Given the description of an element on the screen output the (x, y) to click on. 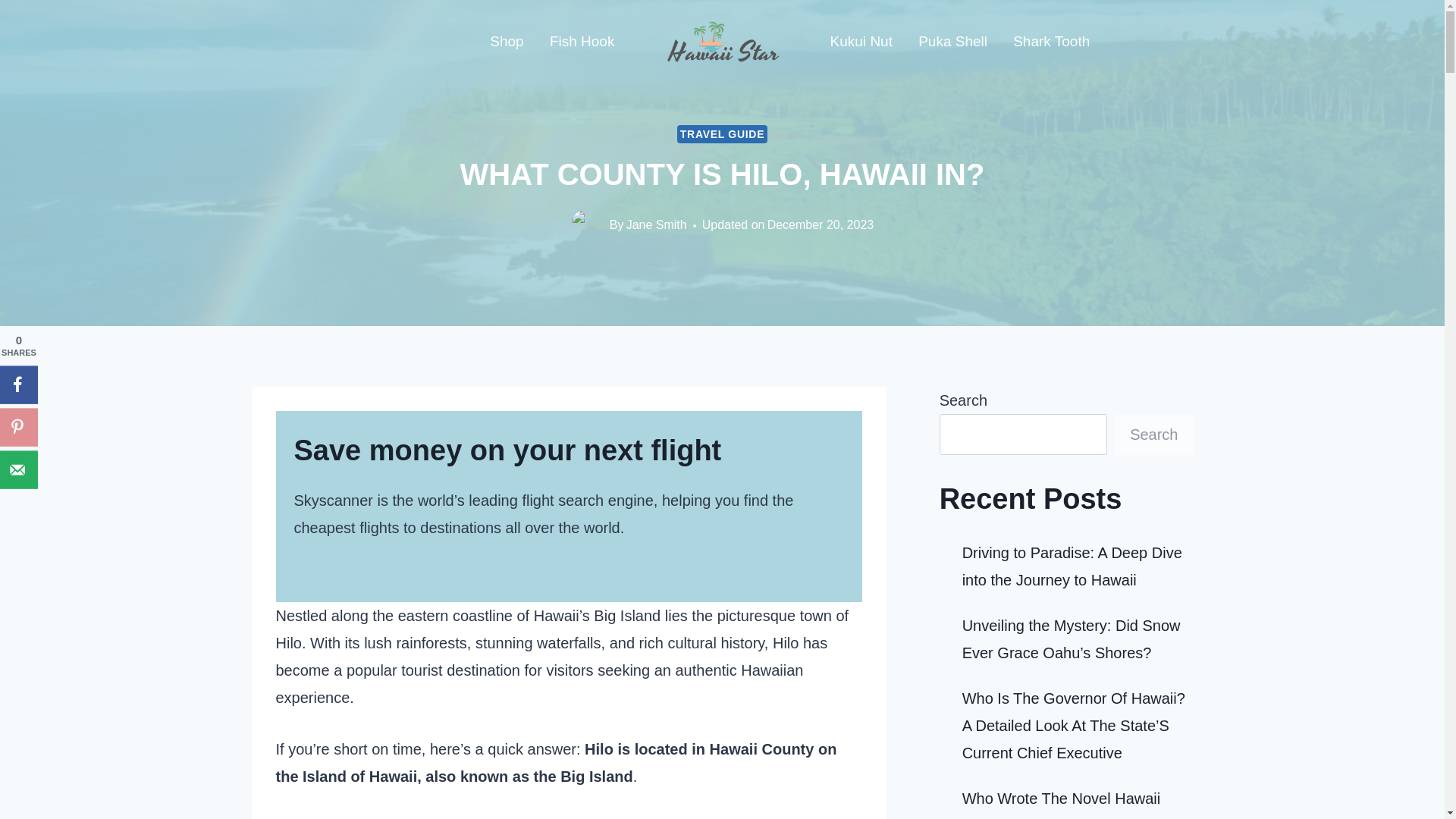
Send over email (18, 469)
TRAVEL GUIDE (722, 134)
Puka Shell (952, 41)
Kukui Nut (860, 41)
Share on Facebook (18, 384)
Save to Pinterest (18, 426)
Shark Tooth (1051, 41)
Fish Hook (582, 41)
Shop (507, 41)
Jane Smith (656, 224)
